Given the description of an element on the screen output the (x, y) to click on. 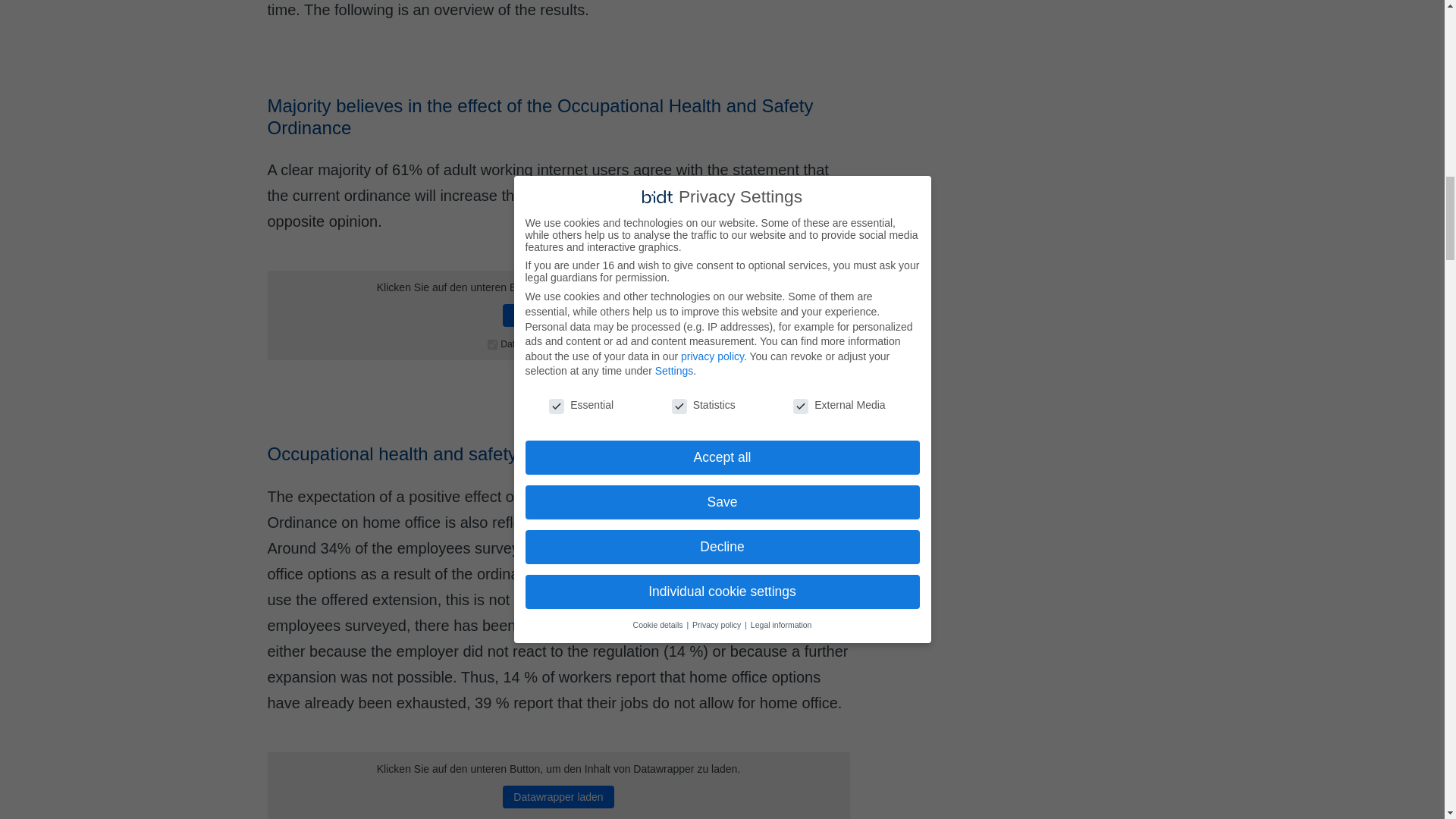
1 (492, 344)
